Given the description of an element on the screen output the (x, y) to click on. 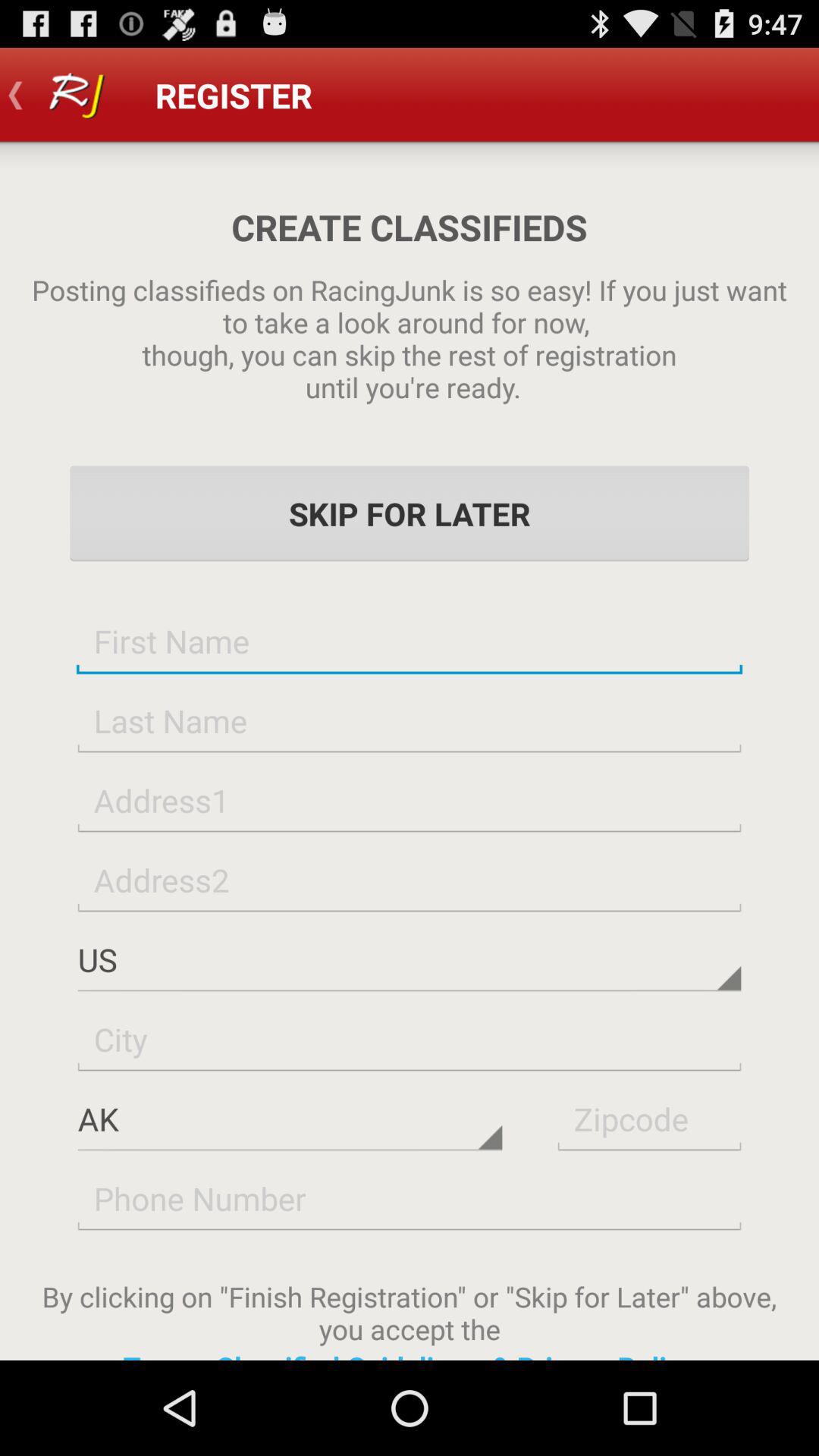
enter phone number (409, 1198)
